Given the description of an element on the screen output the (x, y) to click on. 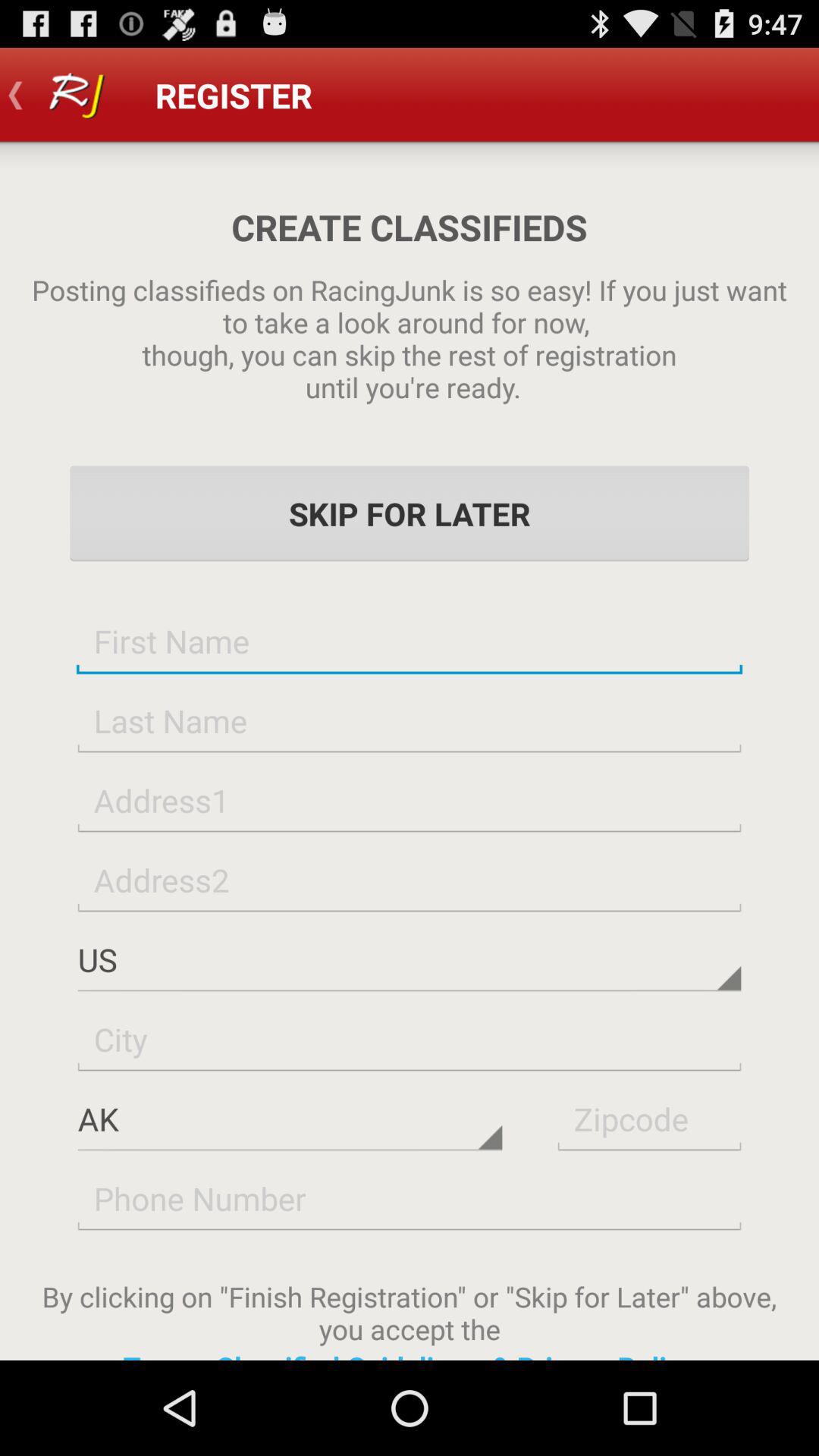
enter phone number (409, 1198)
